Given the description of an element on the screen output the (x, y) to click on. 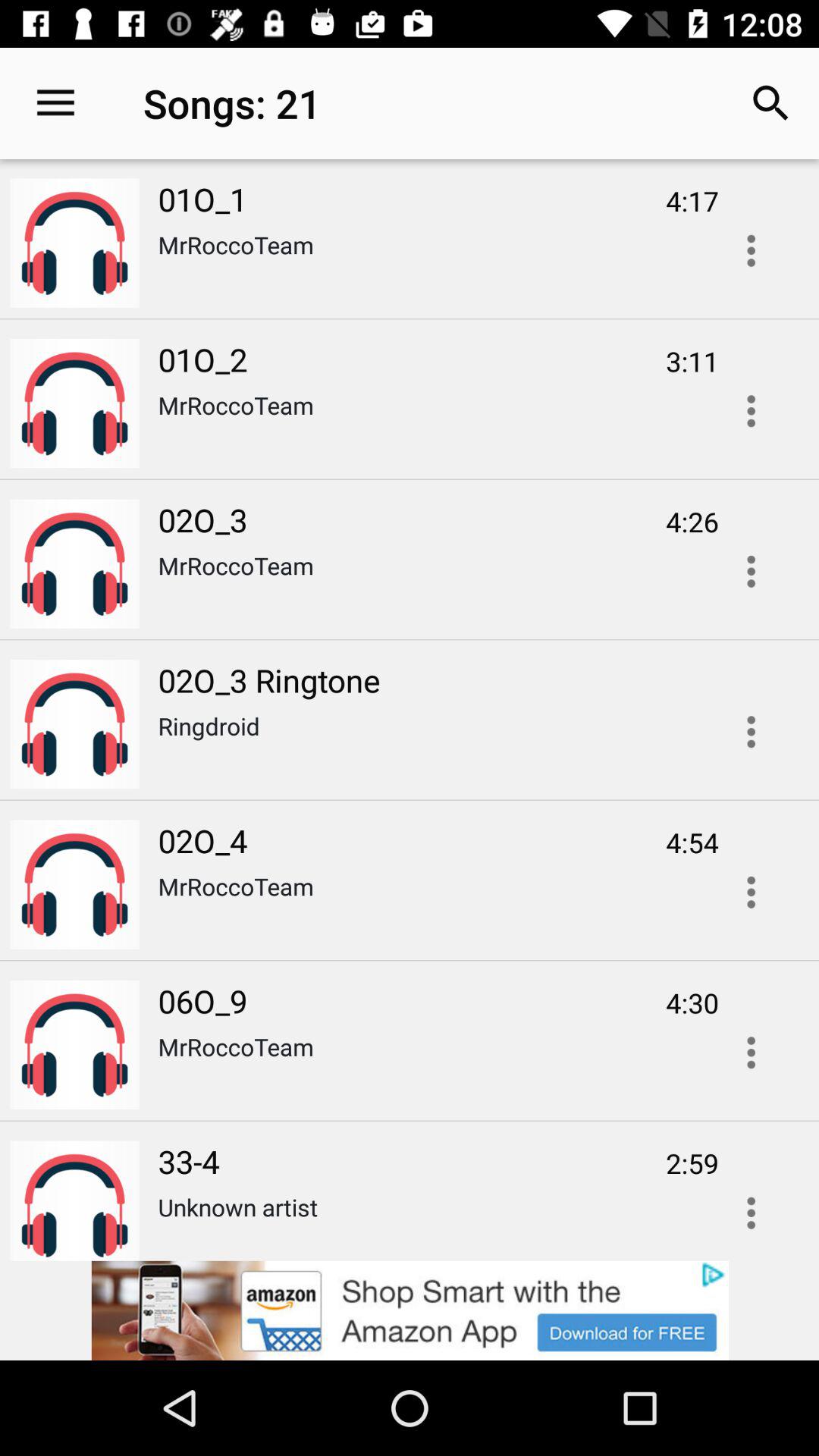
bring up more options (750, 1052)
